Given the description of an element on the screen output the (x, y) to click on. 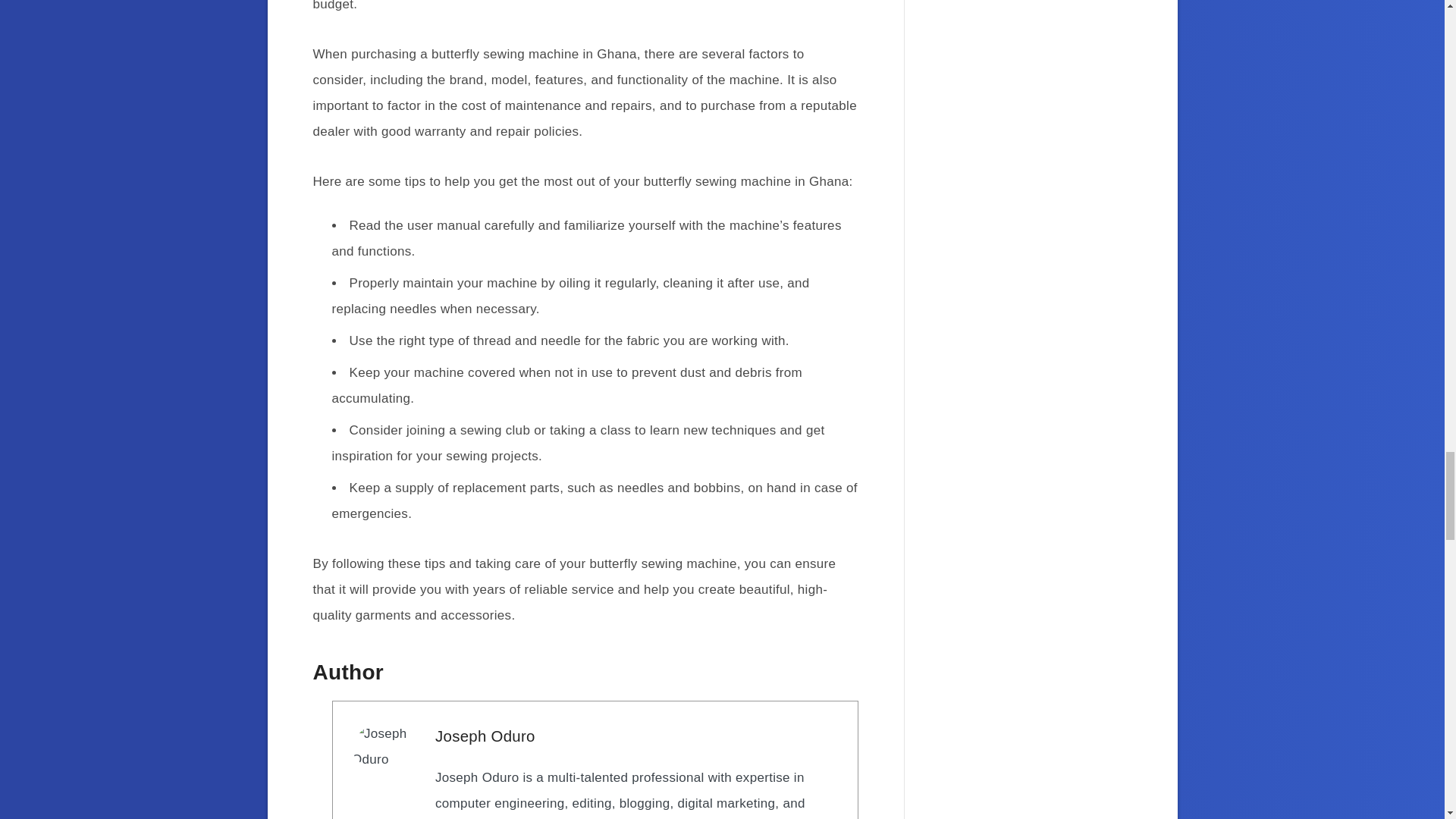
Joseph Oduro (485, 736)
Joseph Oduro (485, 736)
